Given the description of an element on the screen output the (x, y) to click on. 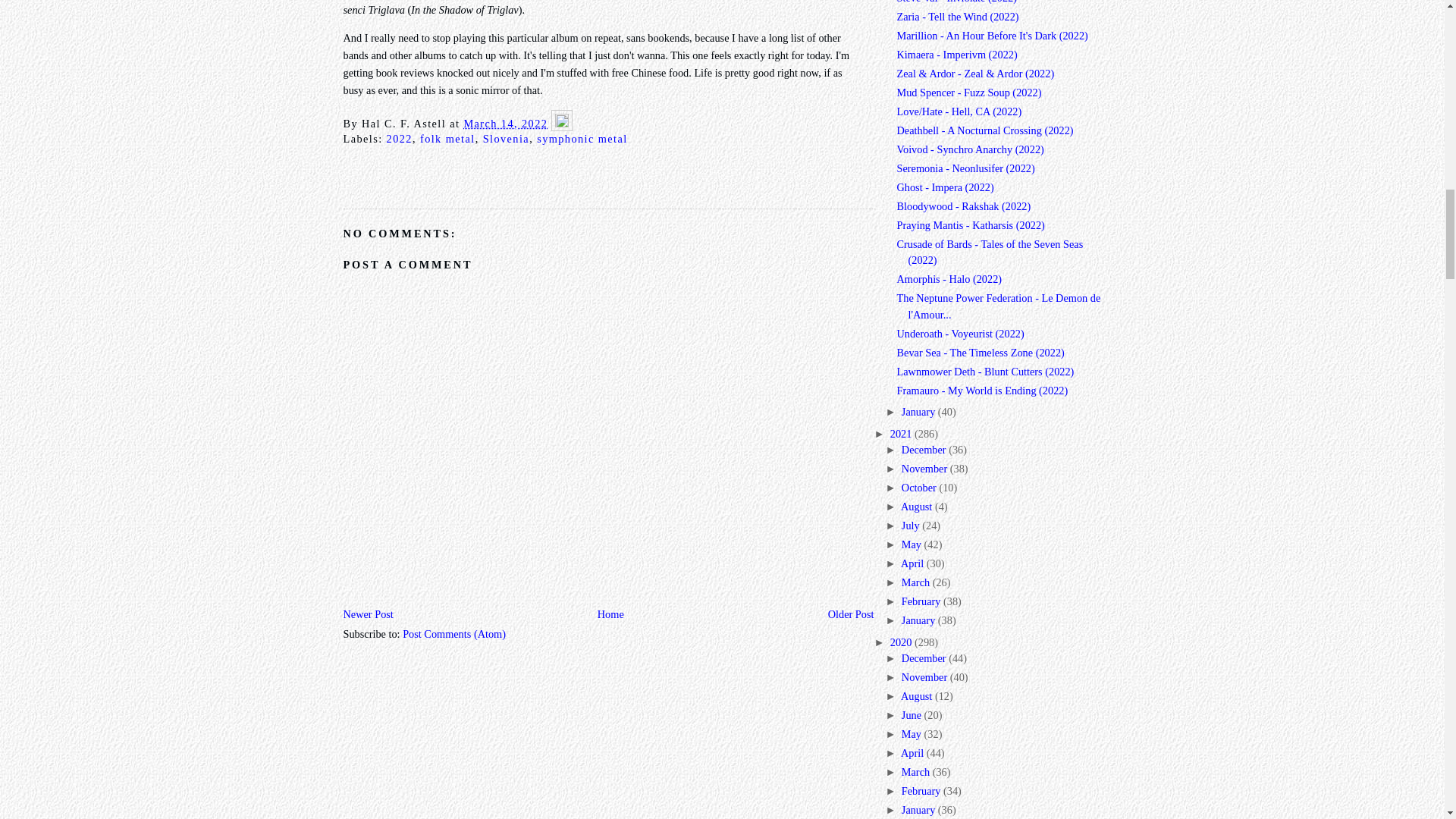
Older Post (851, 613)
Newer Post (367, 613)
Slovenia (506, 138)
2022 (399, 138)
Edit Post (561, 123)
permanent link (505, 123)
folk metal (448, 138)
Newer Post (367, 613)
Home (610, 613)
March 14, 2022 (505, 123)
Older Post (851, 613)
symphonic metal (582, 138)
